Given the description of an element on the screen output the (x, y) to click on. 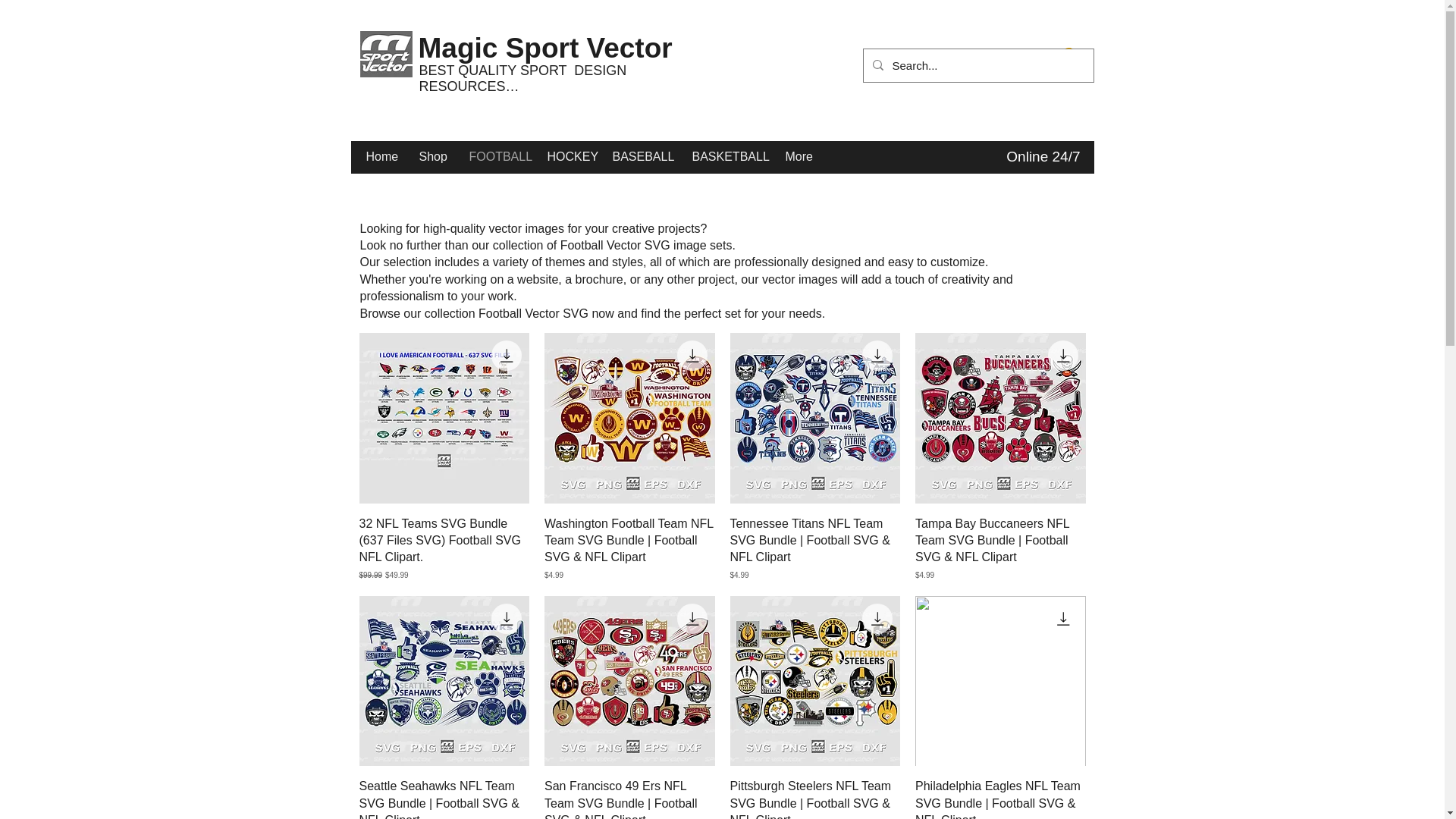
FOOTBALL (496, 156)
Shop (432, 156)
HOCKEY (567, 156)
BASEBALL (639, 156)
Magic Sport Vector (545, 47)
Home (381, 156)
BASKETBALL (727, 156)
Log In (1014, 61)
